Given the description of an element on the screen output the (x, y) to click on. 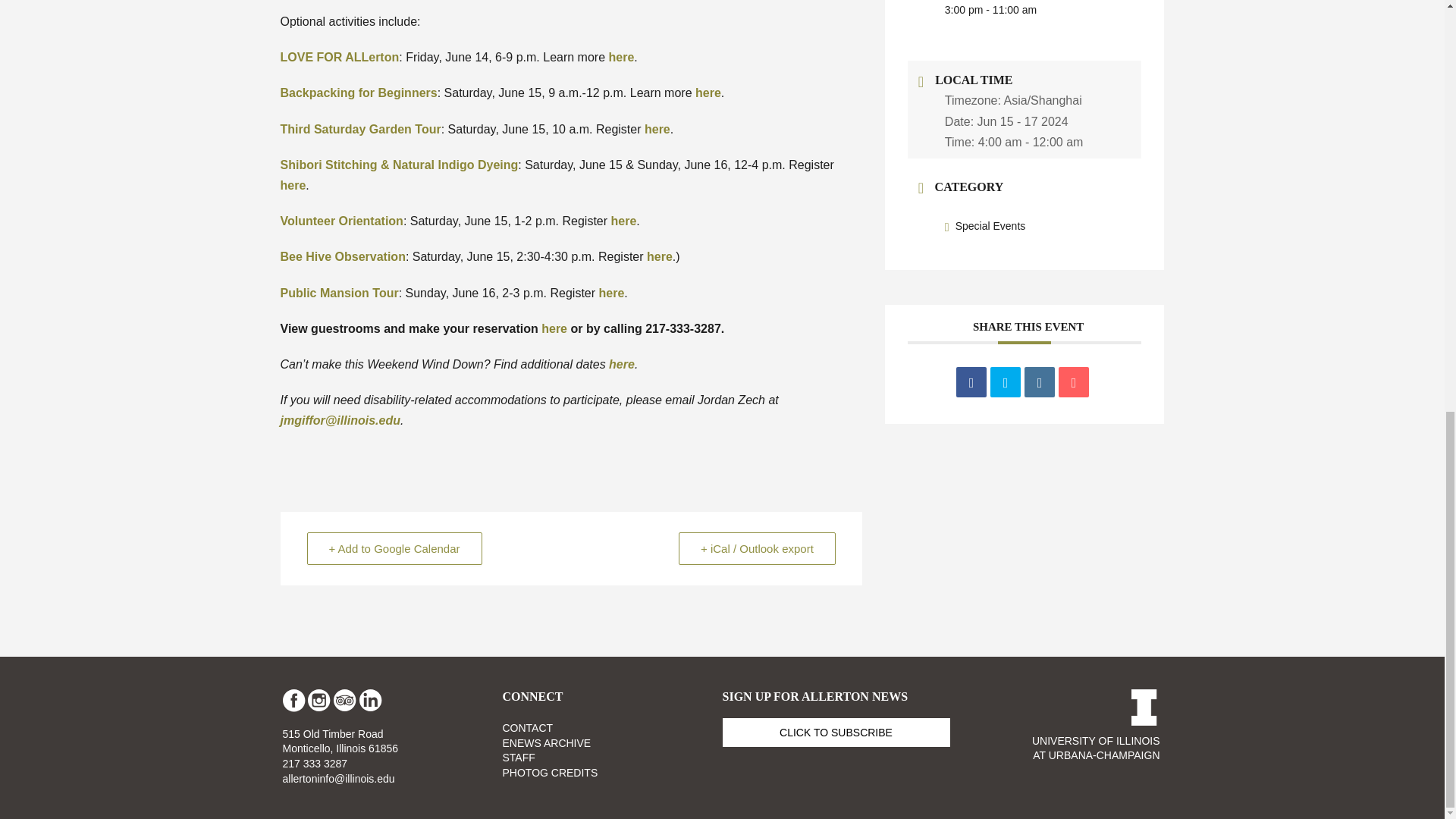
Linkedin (1039, 381)
Email (1073, 381)
Share on Facebook (971, 381)
Tweet (1005, 381)
